Given the description of an element on the screen output the (x, y) to click on. 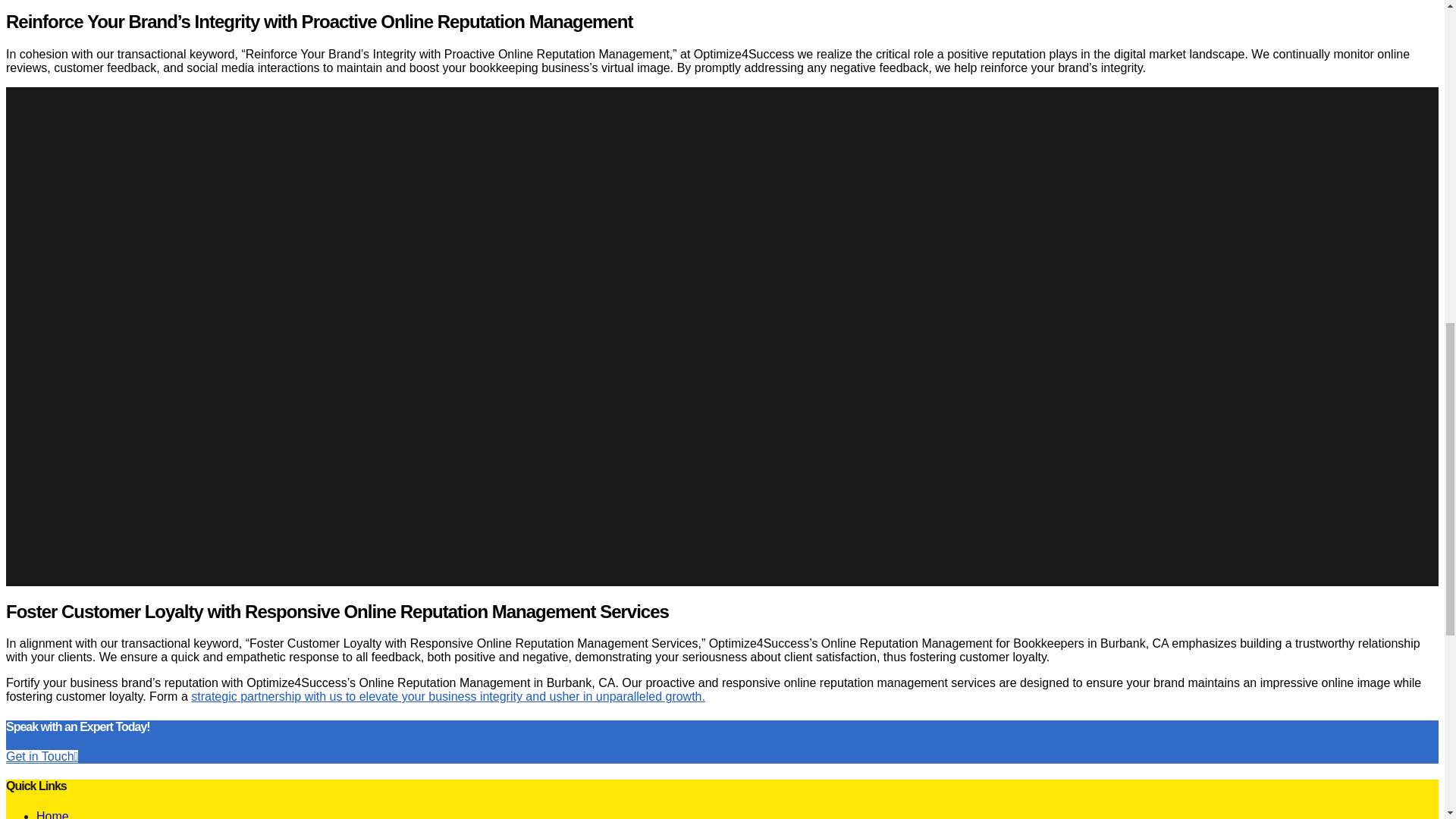
Get in Touch (41, 756)
Get in Touch (41, 756)
Home (52, 814)
